Given the description of an element on the screen output the (x, y) to click on. 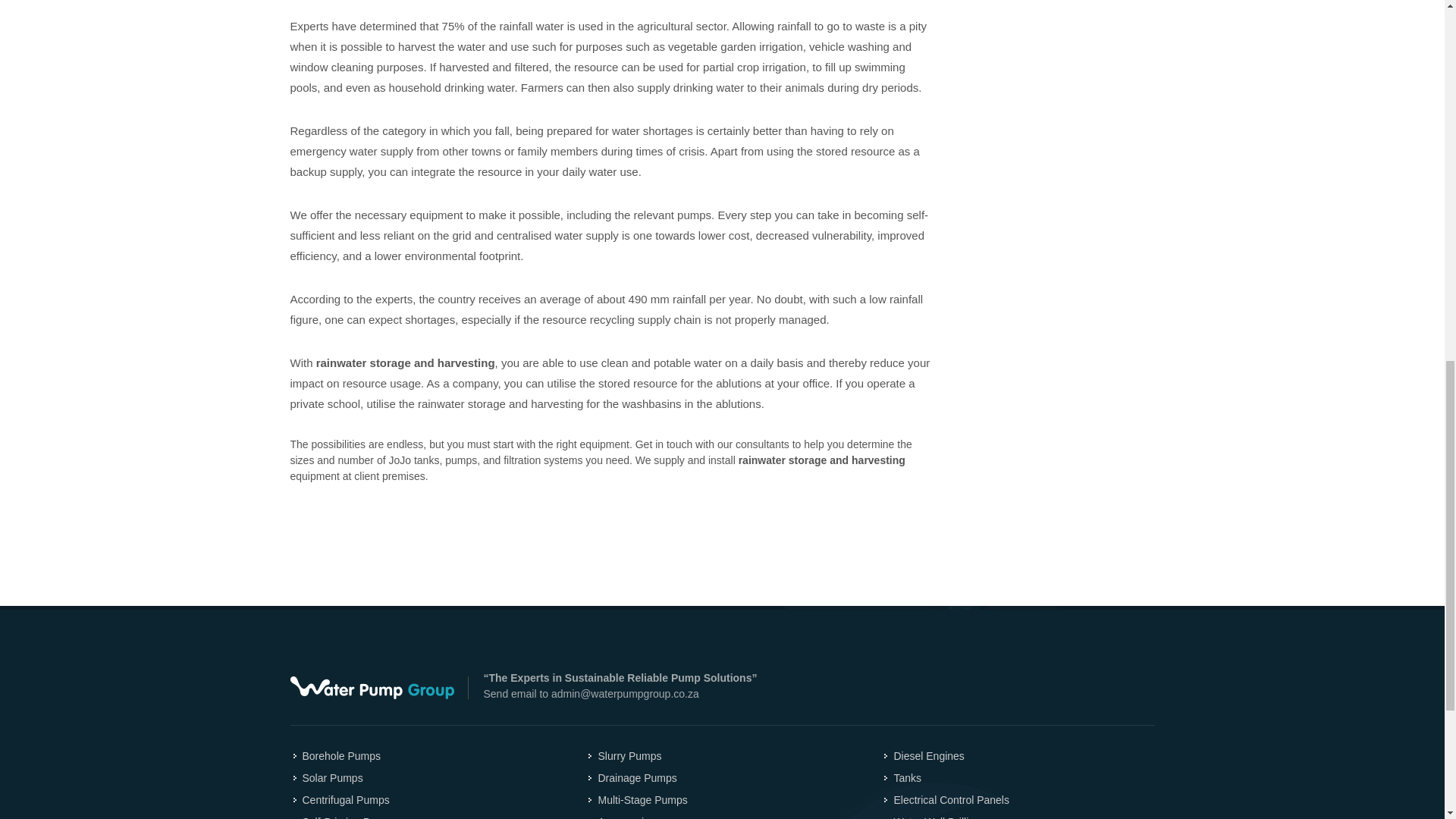
Accessories (622, 816)
Water Well Drilling (932, 816)
Borehole Pumps (337, 756)
Centrifugal Pumps (341, 800)
Diesel Engines (924, 756)
Solar Pumps (328, 778)
Tanks (903, 778)
Slurry Pumps (625, 756)
Drainage Pumps (633, 778)
Multi-Stage Pumps (638, 800)
